Given the description of an element on the screen output the (x, y) to click on. 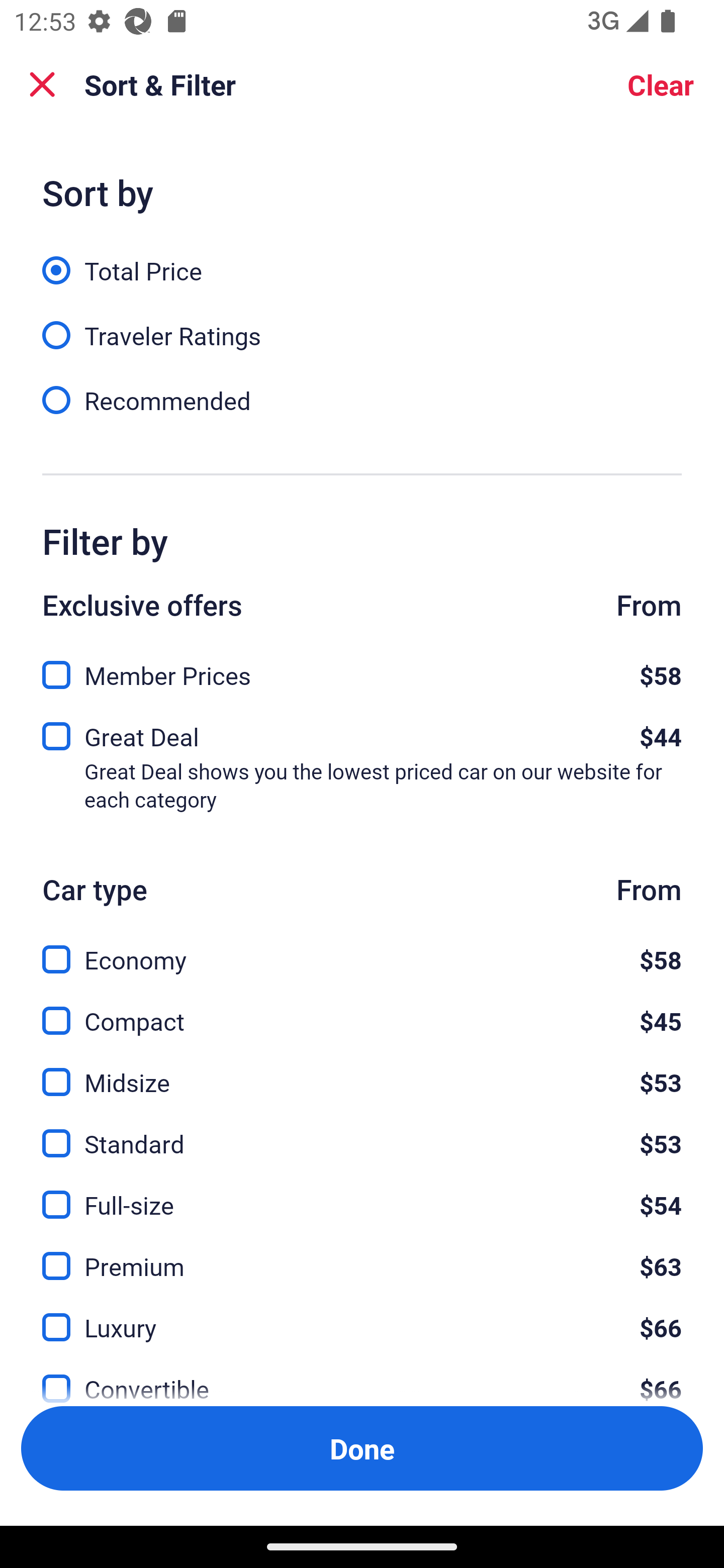
Close Sort and Filter (42, 84)
Clear (660, 84)
Traveler Ratings (361, 324)
Recommended (361, 398)
Member Prices, $58 Member Prices $58 (361, 669)
Economy, $58 Economy $58 (361, 947)
Compact, $45 Compact $45 (361, 1008)
Midsize, $53 Midsize $53 (361, 1070)
Standard, $53 Standard $53 (361, 1132)
Full-size, $54 Full-size $54 (361, 1193)
Premium, $63 Premium $63 (361, 1254)
Luxury, $66 Luxury $66 (361, 1315)
Convertible, $66 Convertible $66 (361, 1376)
Apply and close Sort and Filter Done (361, 1448)
